Given the description of an element on the screen output the (x, y) to click on. 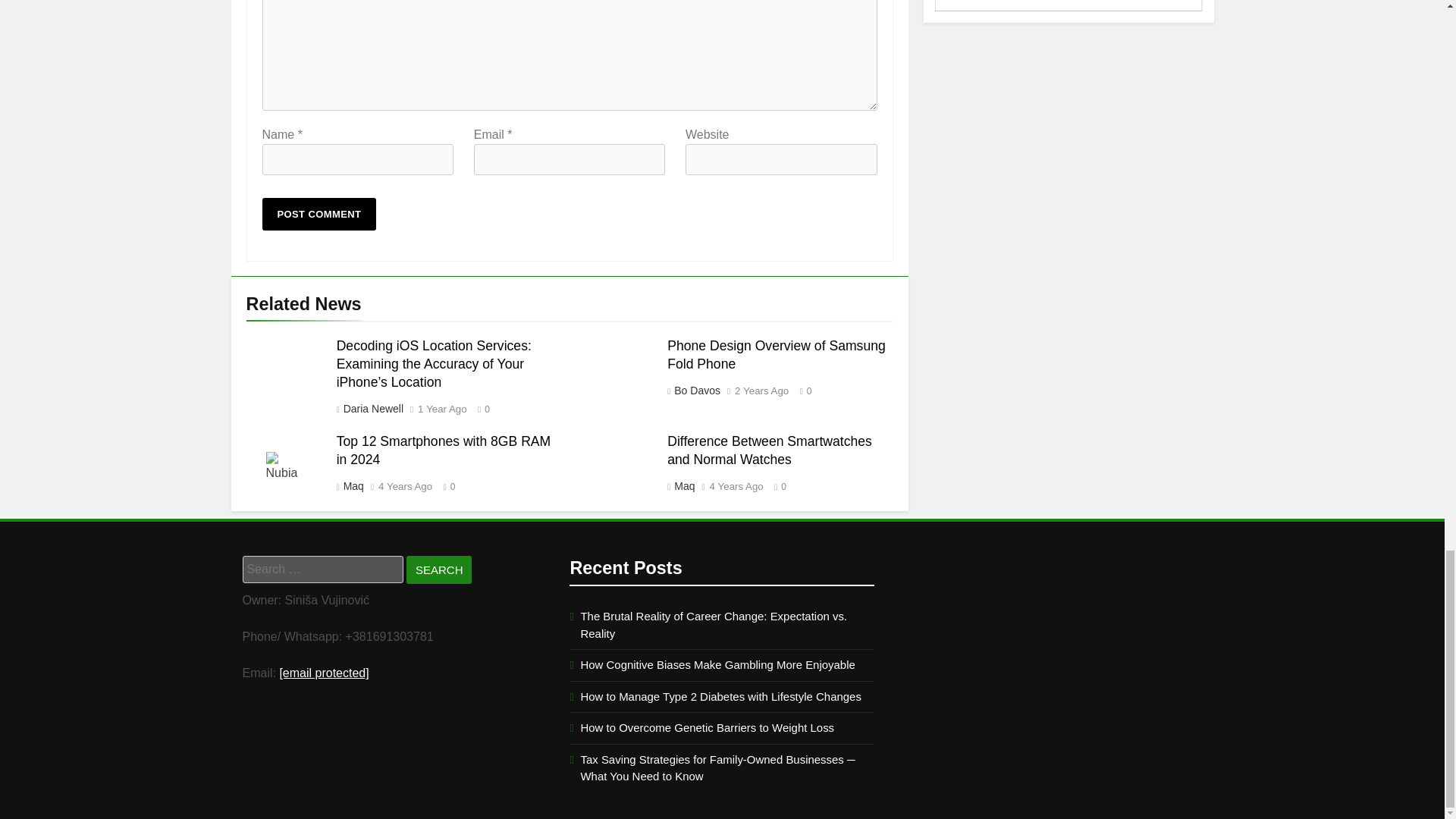
Search (438, 569)
Post Comment (319, 214)
Search (438, 569)
Post Comment (319, 214)
